Given the description of an element on the screen output the (x, y) to click on. 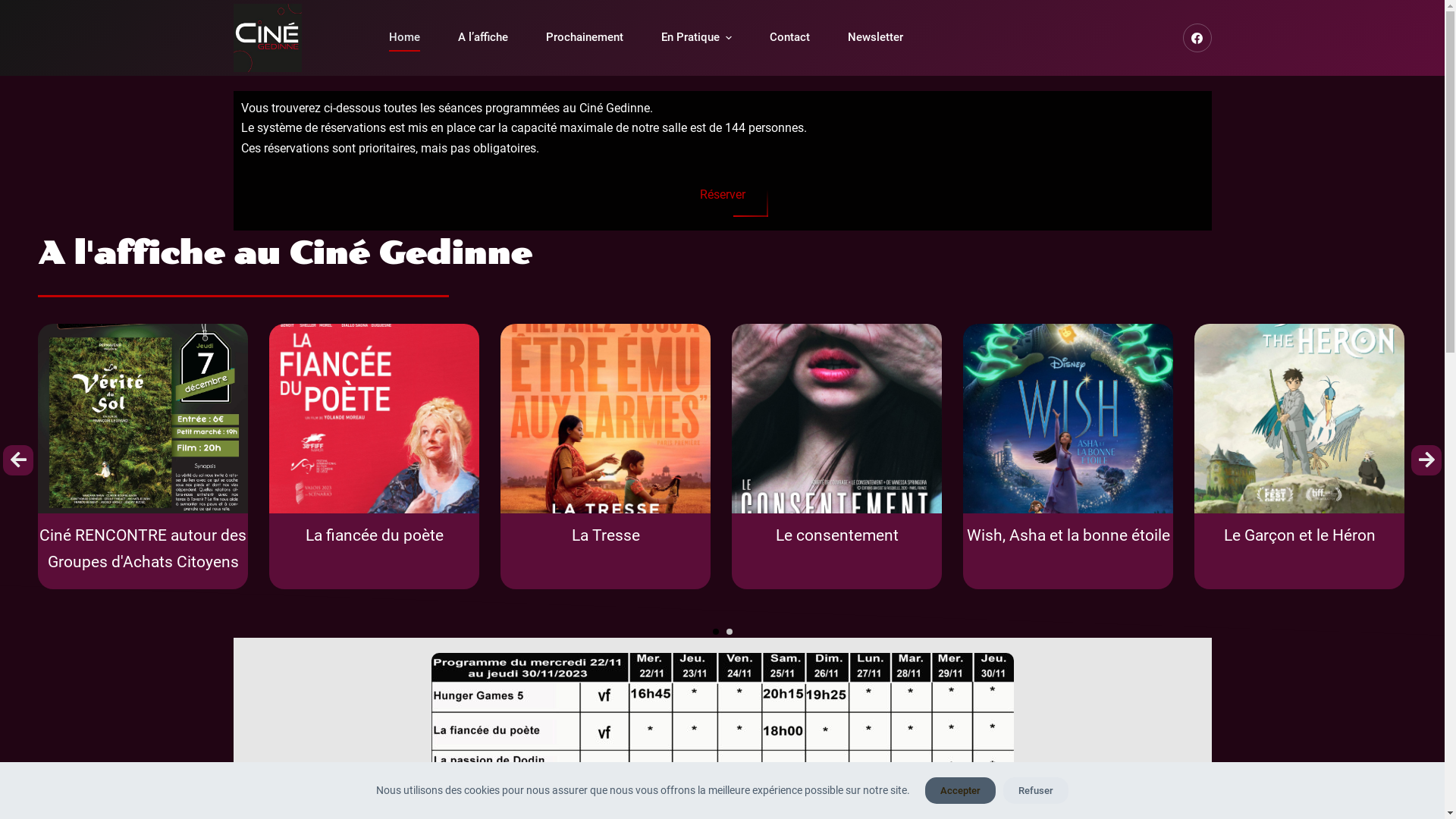
Contact Element type: text (789, 37)
En Pratique Element type: text (695, 37)
Passer au contenu Element type: text (15, 7)
Accepter Element type: text (960, 790)
previous item Element type: text (18, 460)
next item Element type: hover (1426, 460)
previous item Element type: hover (18, 460)
next item Element type: text (1426, 460)
Prochainement Element type: text (583, 37)
Refuser Element type: text (1035, 790)
La Tresse Element type: text (627, 531)
Le consentement Element type: text (856, 531)
Home Element type: text (404, 37)
Newsletter Element type: text (874, 37)
